Given the description of an element on the screen output the (x, y) to click on. 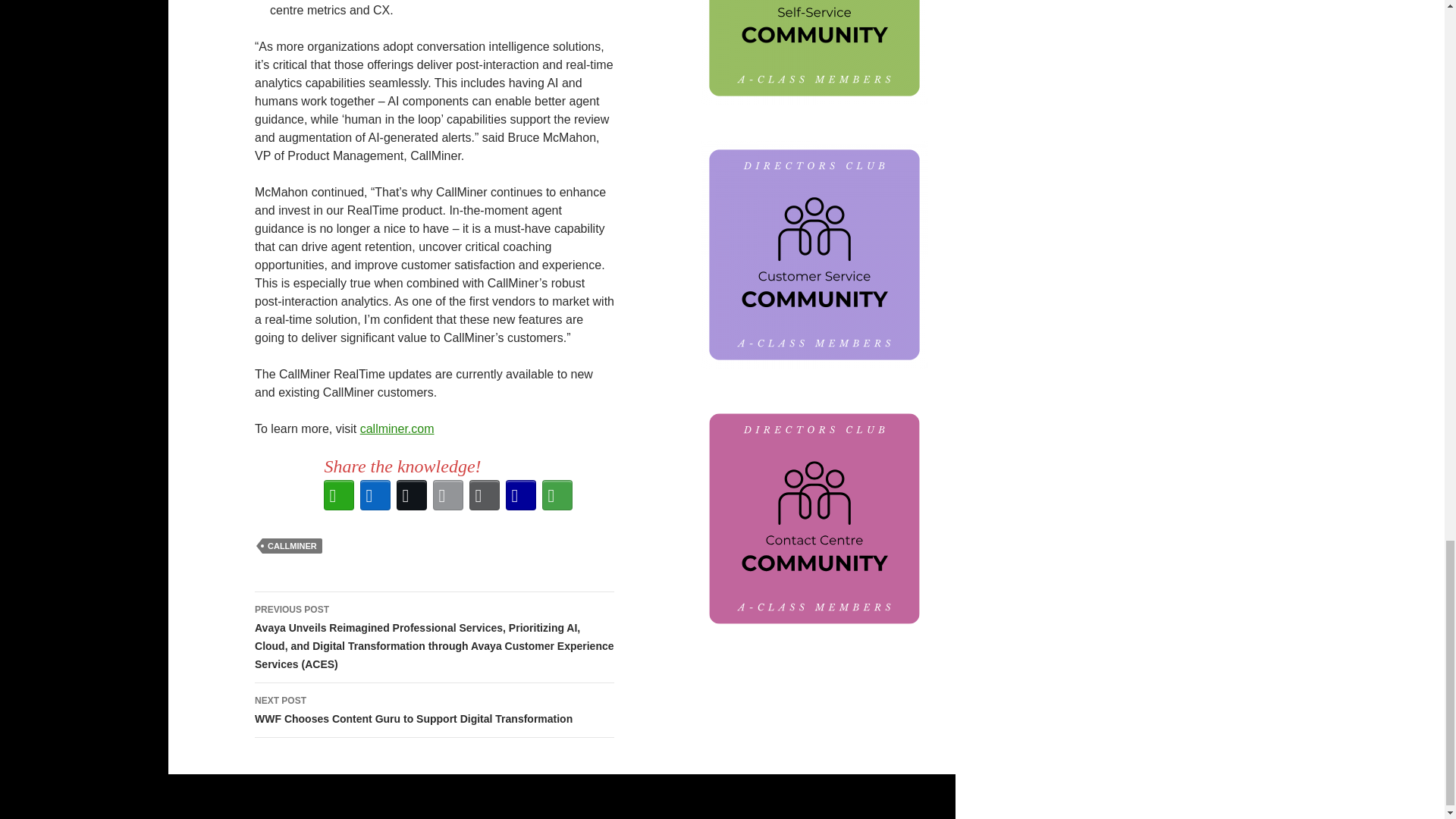
callminer.com (396, 428)
CALLMINER (291, 545)
WhatsApp (338, 494)
Print (483, 494)
More Options (556, 494)
Email This (447, 494)
LinkedIn (374, 494)
TinyURL (520, 494)
